Given the description of an element on the screen output the (x, y) to click on. 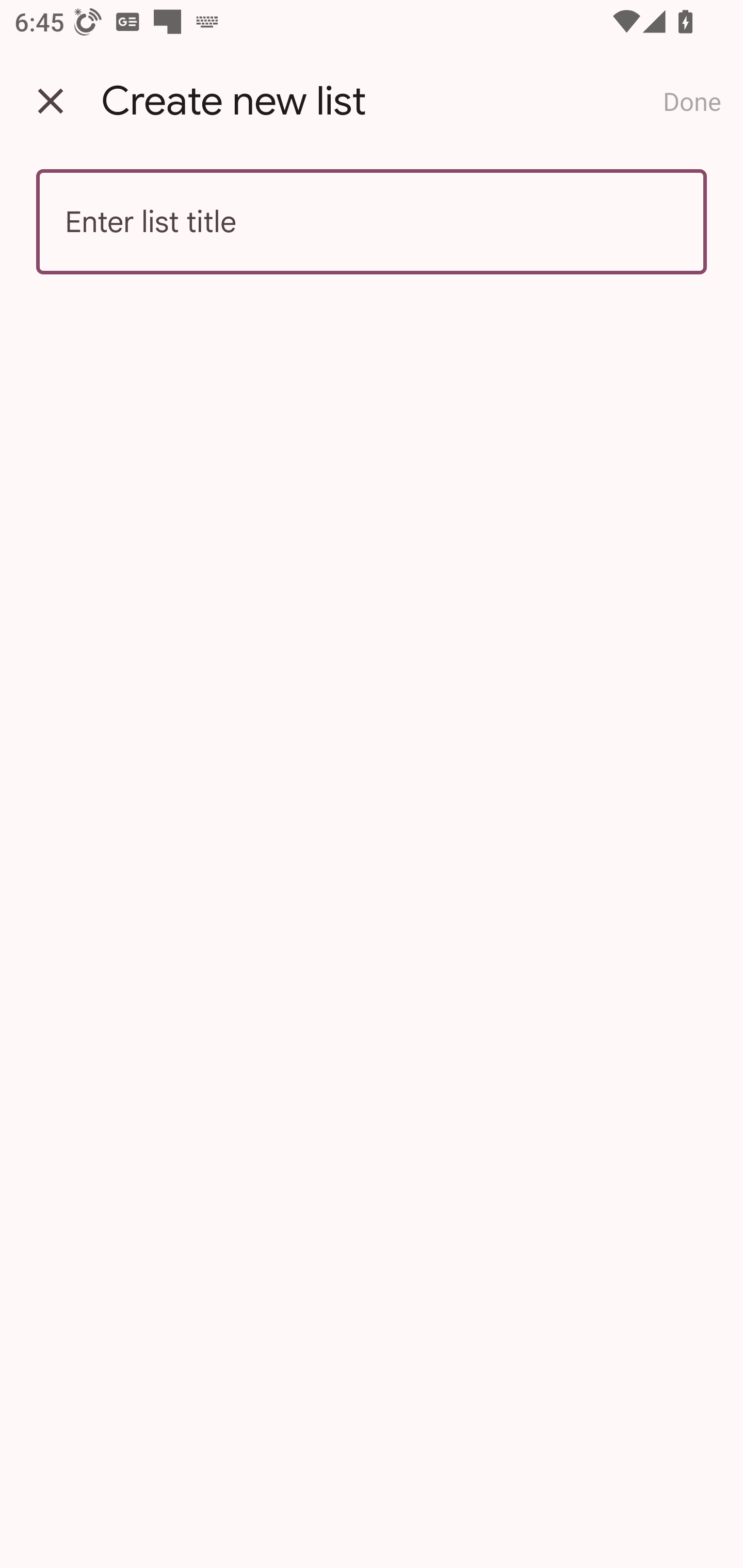
Back (50, 101)
Done (692, 101)
Enter list title (371, 221)
